Given the description of an element on the screen output the (x, y) to click on. 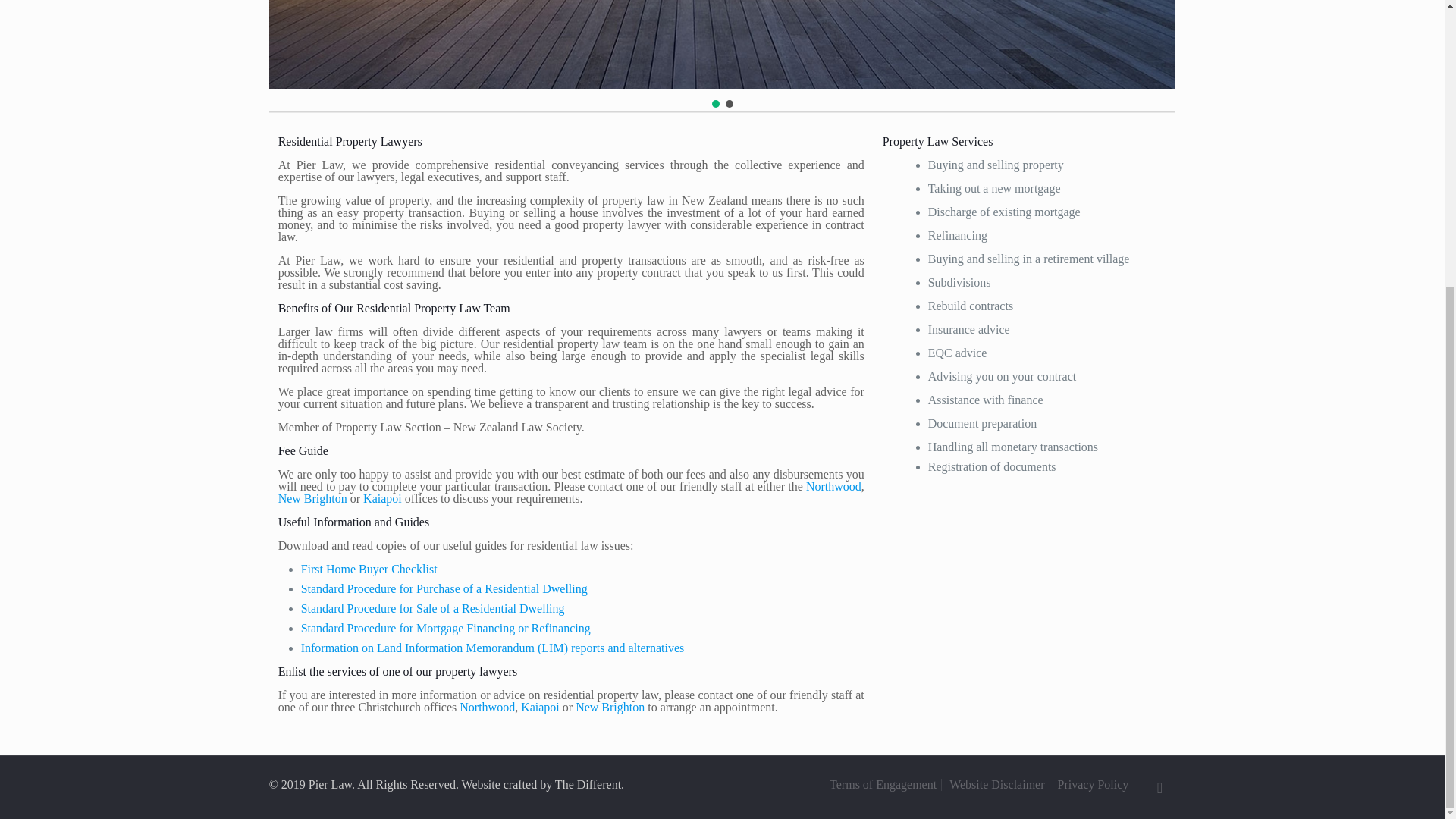
New Brighton Office (312, 498)
Kaiapoi Office (540, 707)
Kaiapoi Office (381, 498)
Styx Mill Office (833, 486)
New Brighton Office (610, 707)
